Given the description of an element on the screen output the (x, y) to click on. 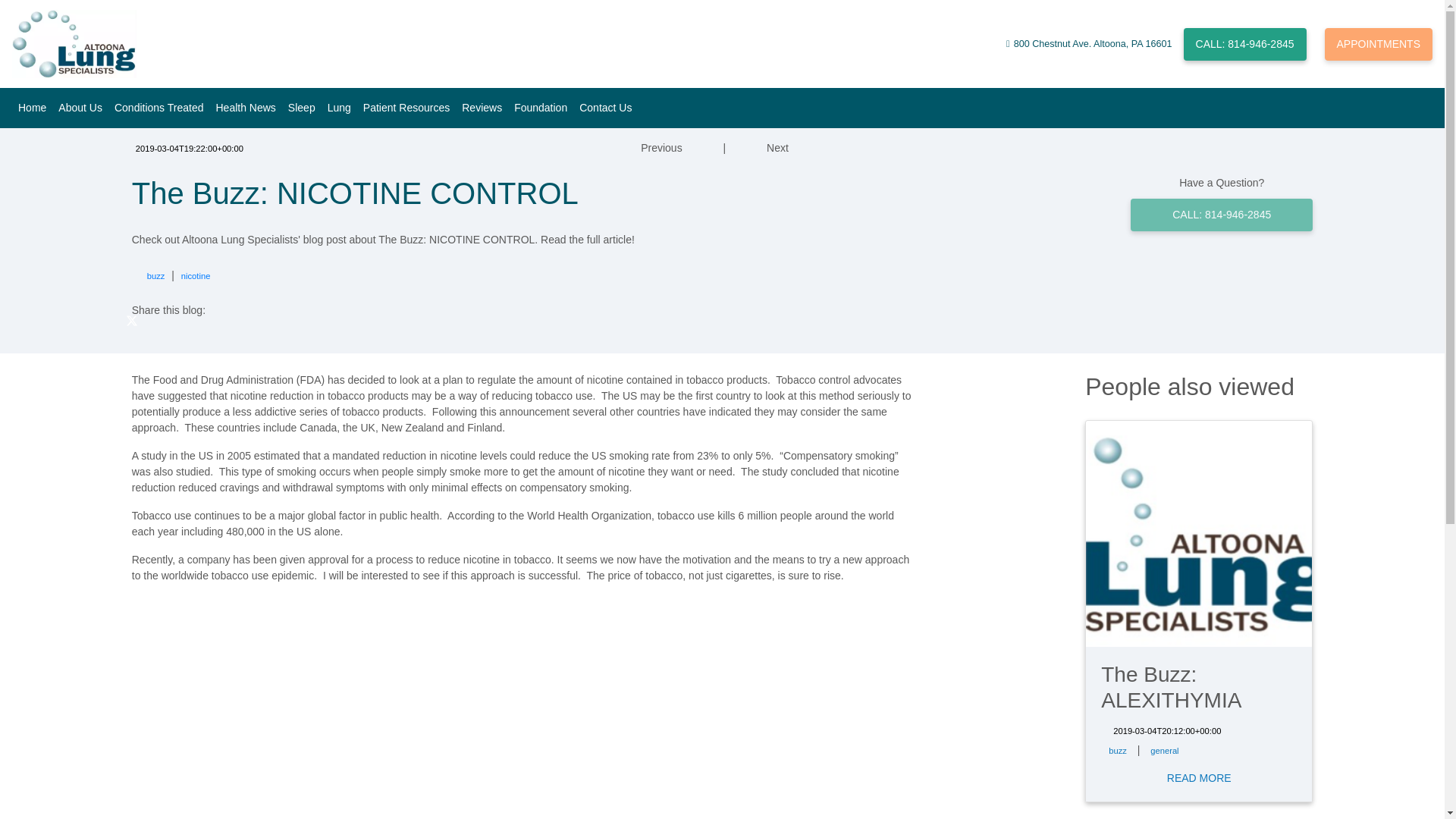
Home (31, 108)
APPOINTMENTS (1378, 43)
CALL: 814-946-2845 (1244, 43)
800 Chestnut Ave. Altoona, PA 16601 (1094, 44)
Conditions Treated (158, 108)
About Us (79, 108)
